Given the description of an element on the screen output the (x, y) to click on. 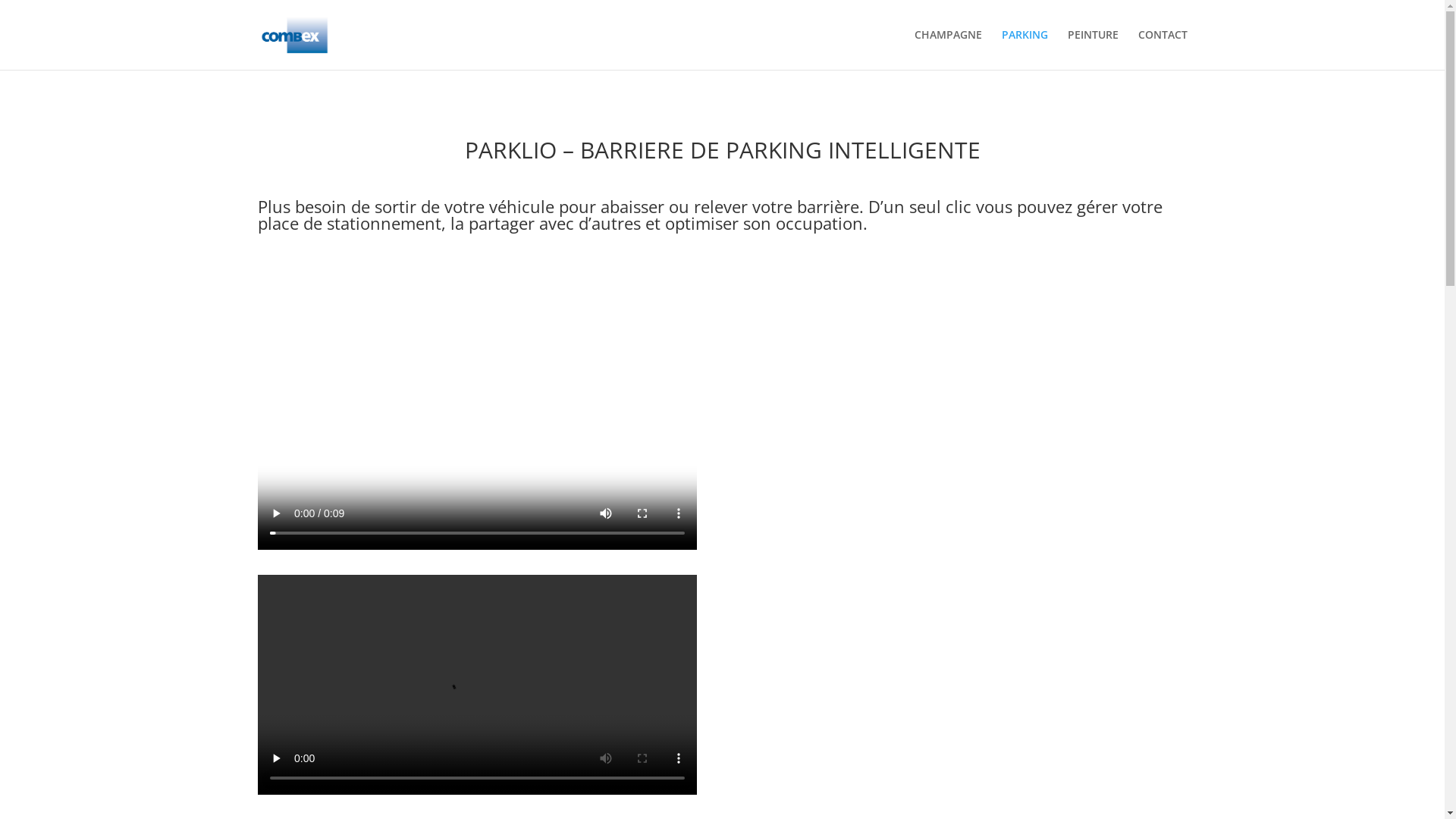
PEINTURE Element type: text (1092, 49)
PARKING Element type: text (1024, 49)
CONTACT Element type: text (1161, 49)
CHAMPAGNE Element type: text (948, 49)
